Given the description of an element on the screen output the (x, y) to click on. 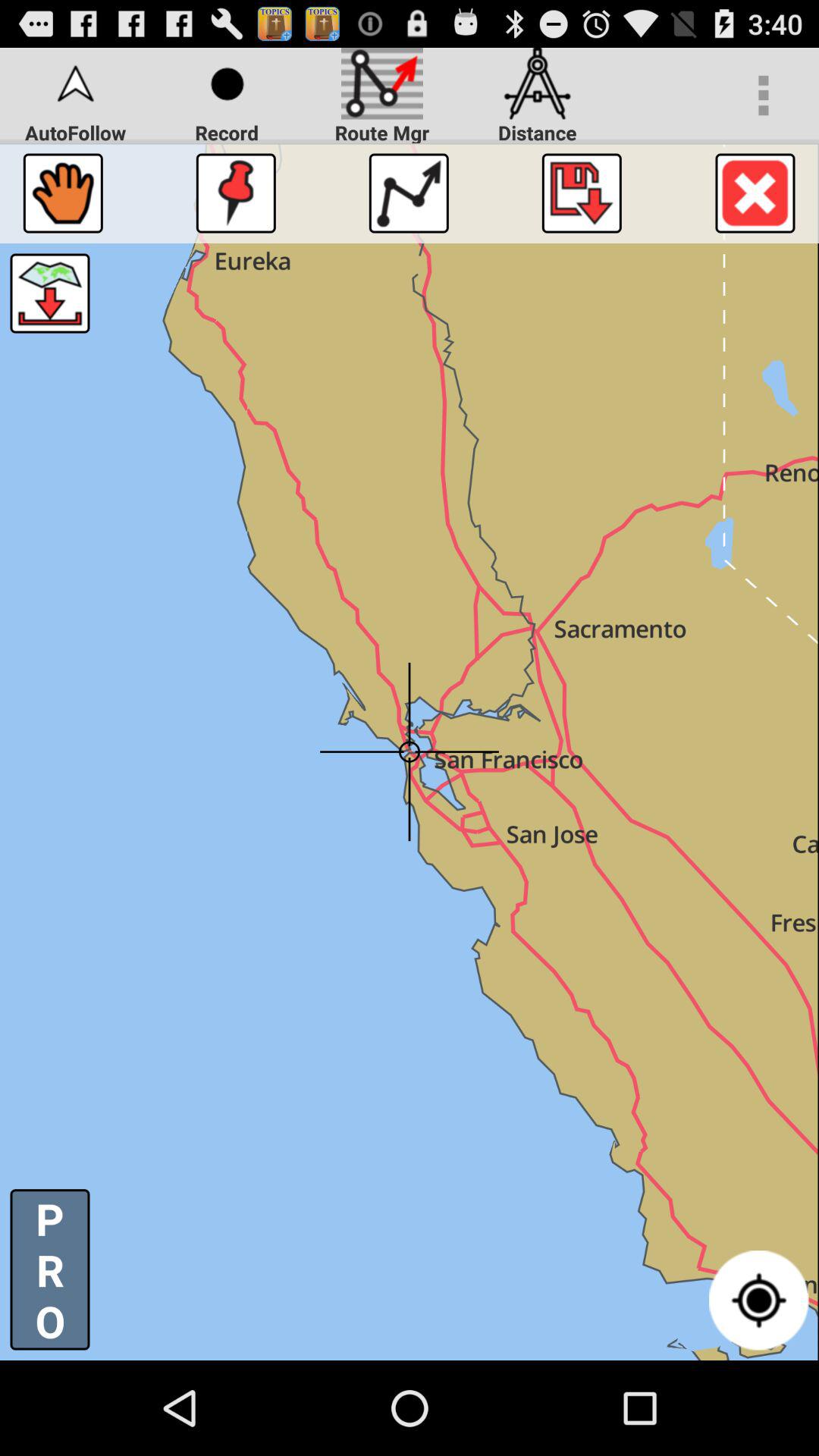
create route (408, 193)
